Given the description of an element on the screen output the (x, y) to click on. 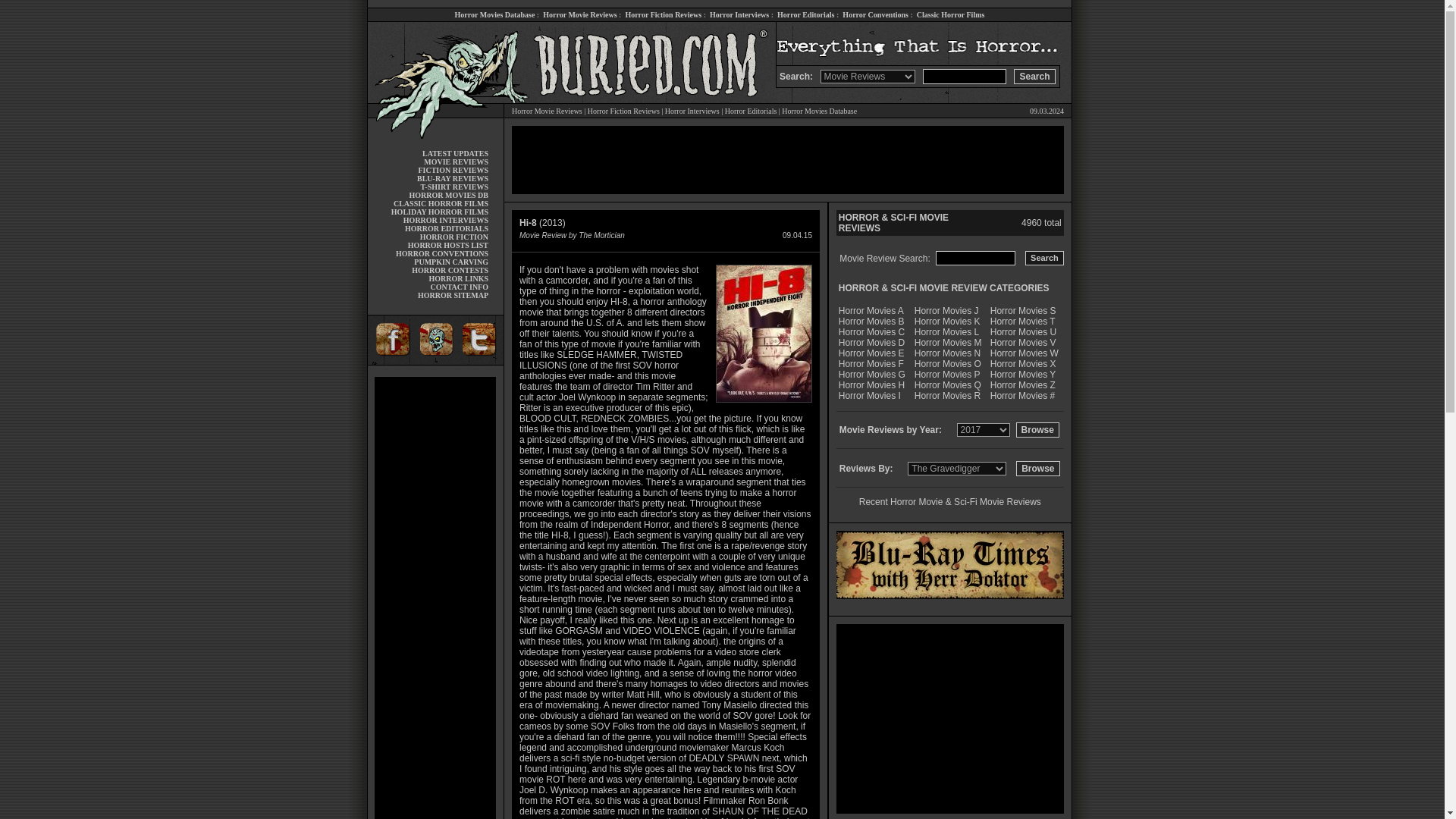
HORROR CONVENTIONS (441, 253)
Horror movies, reviews and more at buried.com (435, 43)
Search (1033, 76)
Horror Movies Database (494, 14)
Horror Editorials (751, 110)
HORROR CONTESTS (449, 270)
Horror Movies Database (819, 110)
HORROR SITEMAP (452, 295)
Horror movies, reviews and more at buried.com (435, 84)
Horror Movies Database (494, 14)
